Given the description of an element on the screen output the (x, y) to click on. 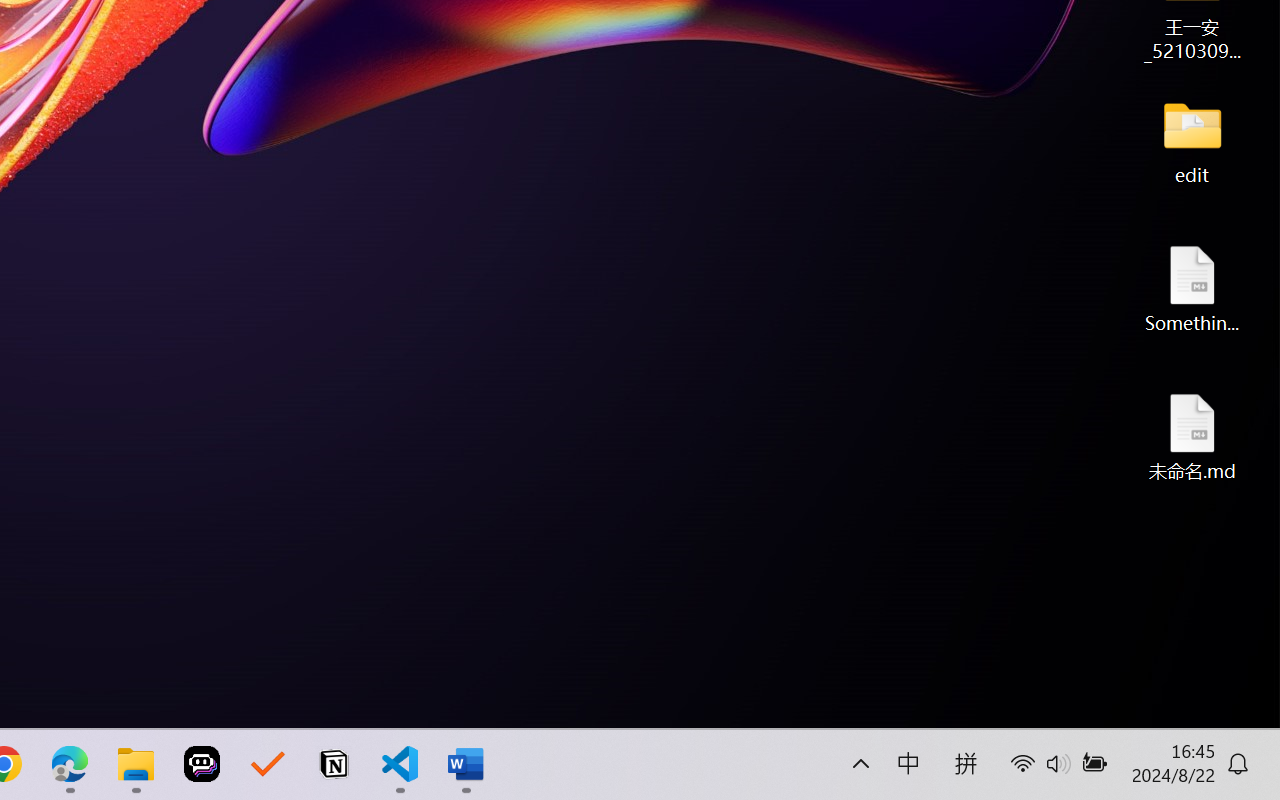
edit (1192, 140)
